Given the description of an element on the screen output the (x, y) to click on. 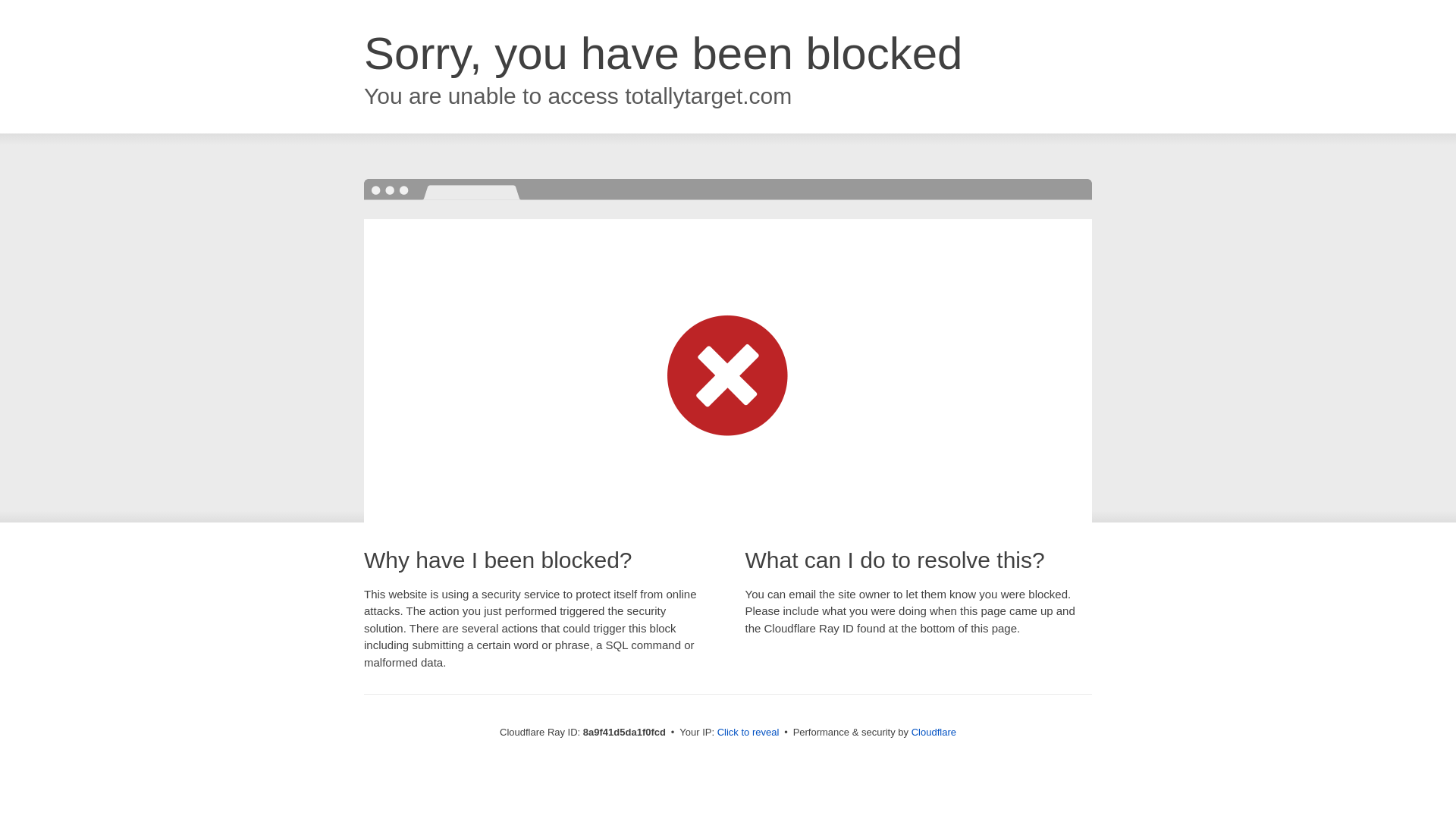
Cloudflare (933, 731)
Click to reveal (747, 732)
